Given the description of an element on the screen output the (x, y) to click on. 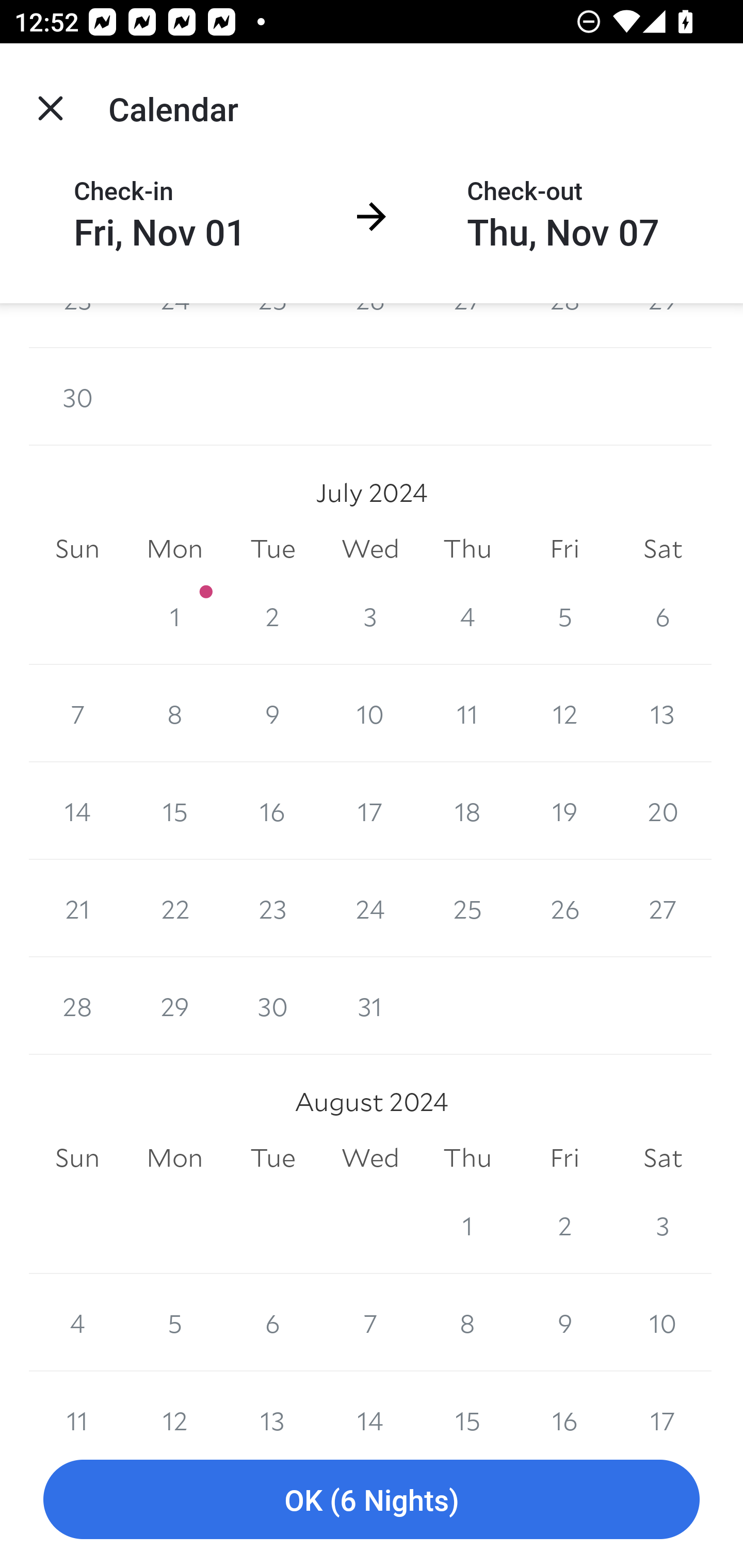
30 30 June 2024 (77, 396)
Sun (77, 548)
Mon (174, 548)
Tue (272, 548)
Wed (370, 548)
Thu (467, 548)
Fri (564, 548)
Sat (662, 548)
1 1 July 2024 (174, 615)
2 2 July 2024 (272, 615)
3 3 July 2024 (370, 615)
4 4 July 2024 (467, 615)
5 5 July 2024 (564, 615)
6 6 July 2024 (662, 615)
7 7 July 2024 (77, 713)
8 8 July 2024 (174, 713)
9 9 July 2024 (272, 713)
10 10 July 2024 (370, 713)
11 11 July 2024 (467, 713)
12 12 July 2024 (564, 713)
13 13 July 2024 (662, 713)
14 14 July 2024 (77, 810)
15 15 July 2024 (174, 810)
16 16 July 2024 (272, 810)
17 17 July 2024 (370, 810)
18 18 July 2024 (467, 810)
19 19 July 2024 (564, 810)
20 20 July 2024 (662, 810)
21 21 July 2024 (77, 908)
22 22 July 2024 (174, 908)
23 23 July 2024 (272, 908)
24 24 July 2024 (370, 908)
25 25 July 2024 (467, 908)
26 26 July 2024 (564, 908)
27 27 July 2024 (662, 908)
28 28 July 2024 (77, 1006)
29 29 July 2024 (174, 1006)
30 30 July 2024 (272, 1006)
31 31 July 2024 (370, 1006)
Sun (77, 1157)
Mon (174, 1157)
Tue (272, 1157)
Wed (370, 1157)
Thu (467, 1157)
Fri (564, 1157)
Sat (662, 1157)
1 1 August 2024 (467, 1224)
2 2 August 2024 (564, 1224)
3 3 August 2024 (662, 1224)
4 4 August 2024 (77, 1322)
5 5 August 2024 (174, 1322)
6 6 August 2024 (272, 1322)
7 7 August 2024 (370, 1322)
8 8 August 2024 (467, 1322)
9 9 August 2024 (564, 1322)
10 10 August 2024 (662, 1322)
11 11 August 2024 (77, 1401)
12 12 August 2024 (174, 1401)
13 13 August 2024 (272, 1401)
14 14 August 2024 (370, 1401)
15 15 August 2024 (467, 1401)
16 16 August 2024 (564, 1401)
17 17 August 2024 (662, 1401)
OK (6 Nights) (371, 1499)
